Given the description of an element on the screen output the (x, y) to click on. 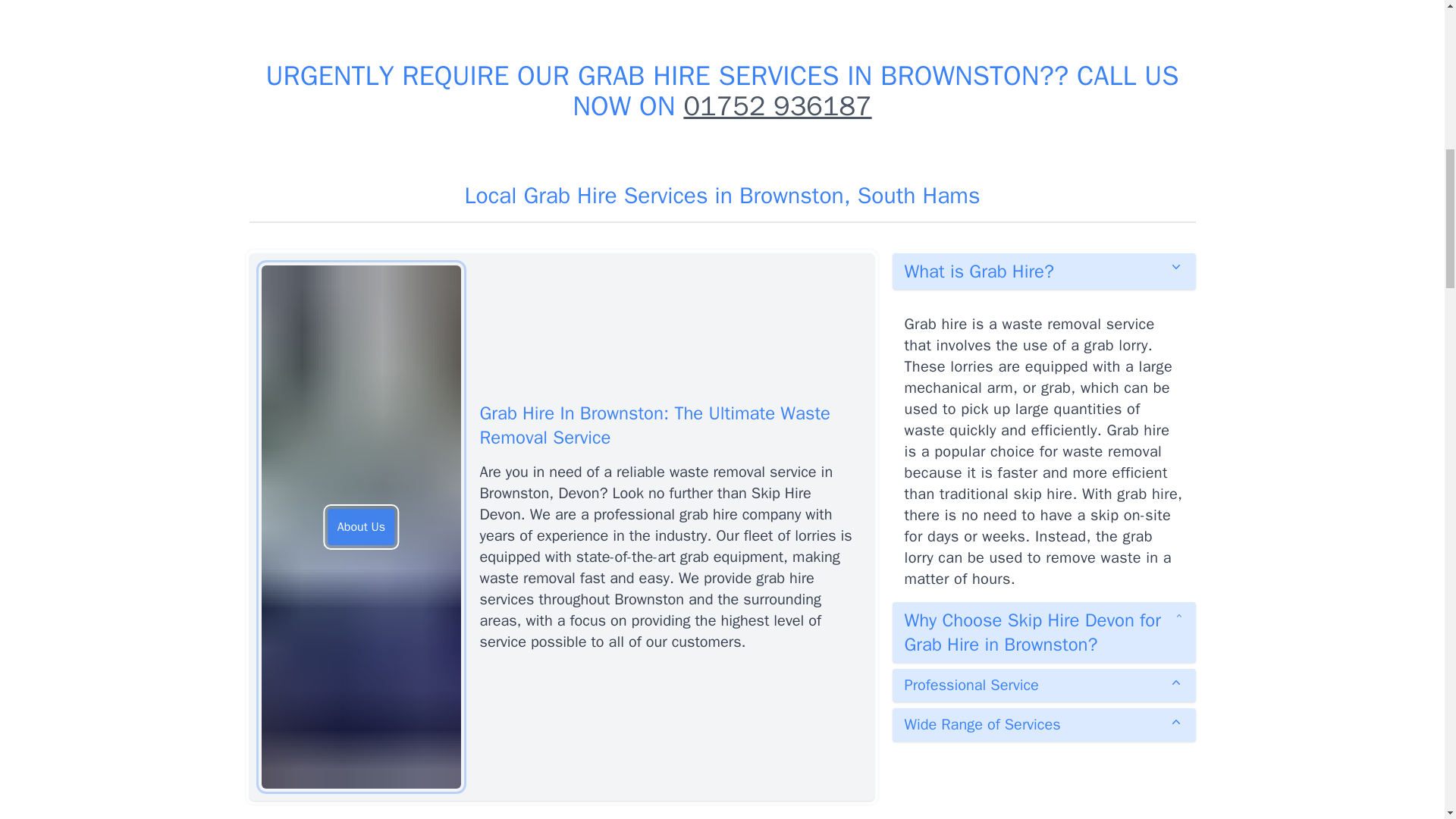
01752 936187 (776, 105)
Why Choose Skip Hire Devon for Grab Hire in Brownston? (1043, 631)
What is Grab Hire? (1043, 271)
Wide Range of Services (1043, 725)
Professional Service (1043, 685)
About Us (361, 526)
